Given the description of an element on the screen output the (x, y) to click on. 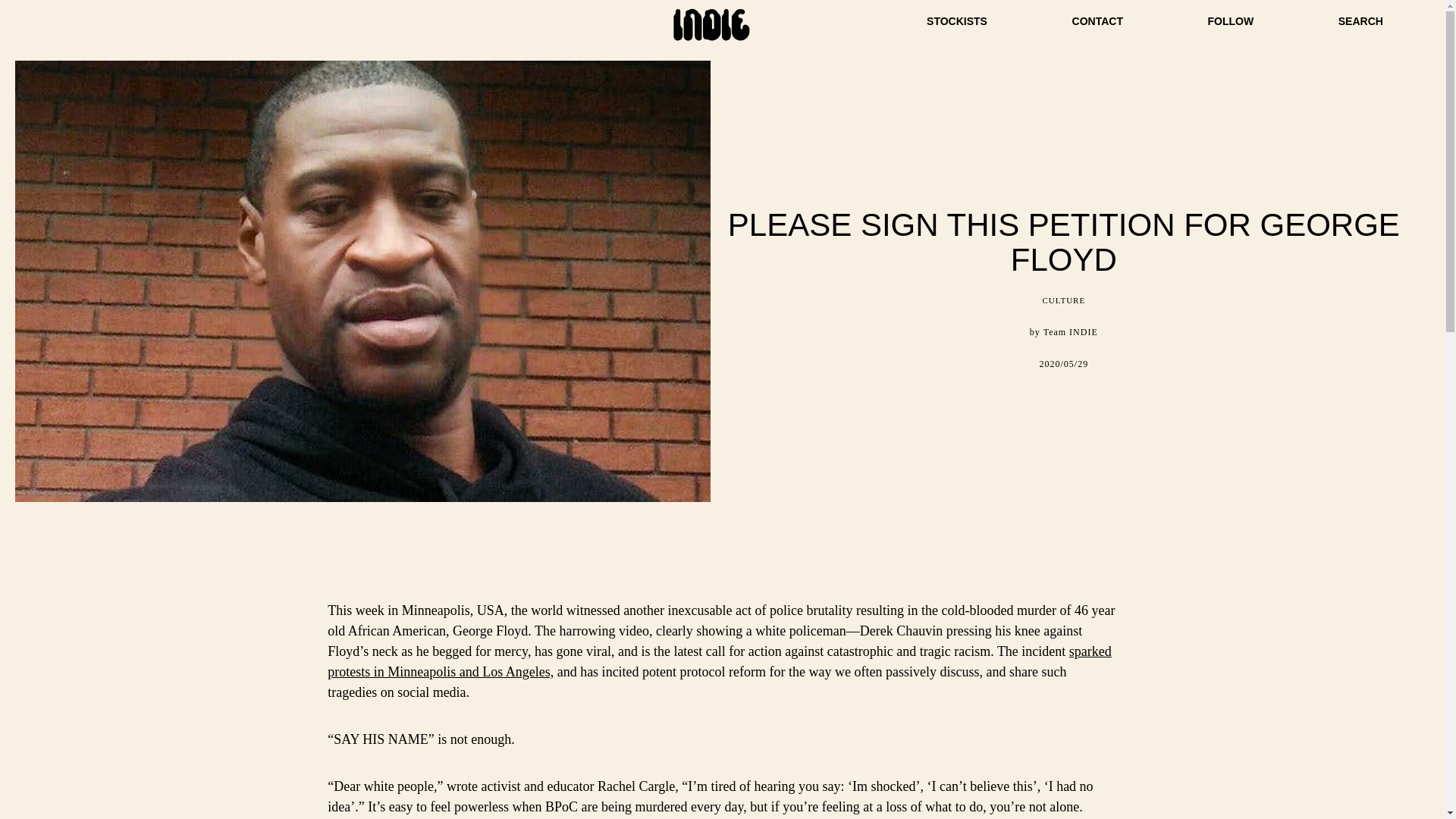
CULTURE (1063, 300)
CONTACT (1096, 21)
INDIE Magazine (711, 38)
SEARCH (1360, 21)
sparked protests in Minneapolis and Los Angeles, (719, 661)
STOCKISTS (956, 21)
Team INDIE (1070, 331)
FOLLOW (1230, 21)
